Given the description of an element on the screen output the (x, y) to click on. 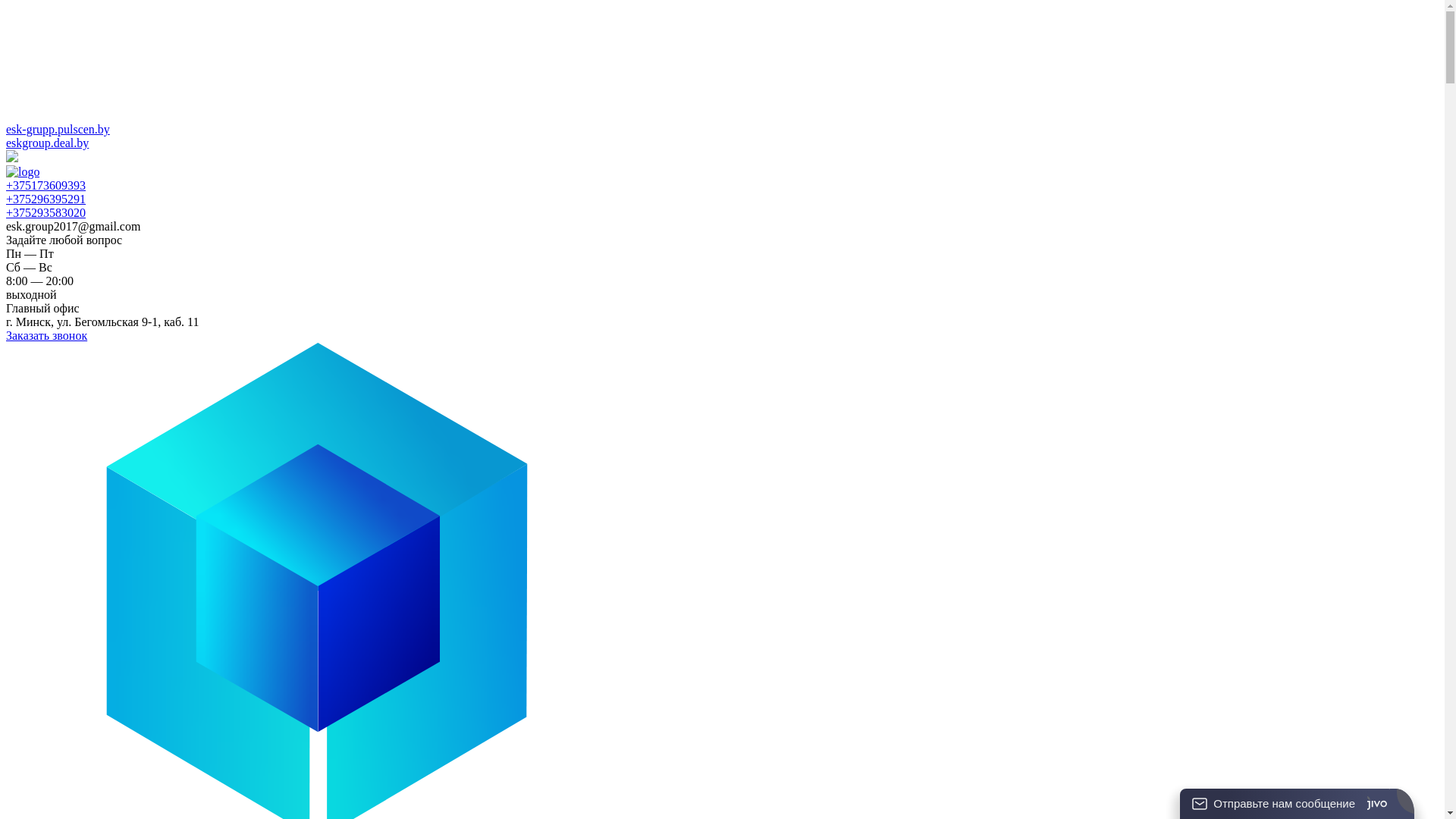
+375173609393 Element type: text (45, 184)
esk-grupp.pulscen.by Element type: text (57, 128)
+375293583020 Element type: text (45, 212)
eskgroup.deal.by Element type: text (47, 142)
+375296395291 Element type: text (45, 198)
